Given the description of an element on the screen output the (x, y) to click on. 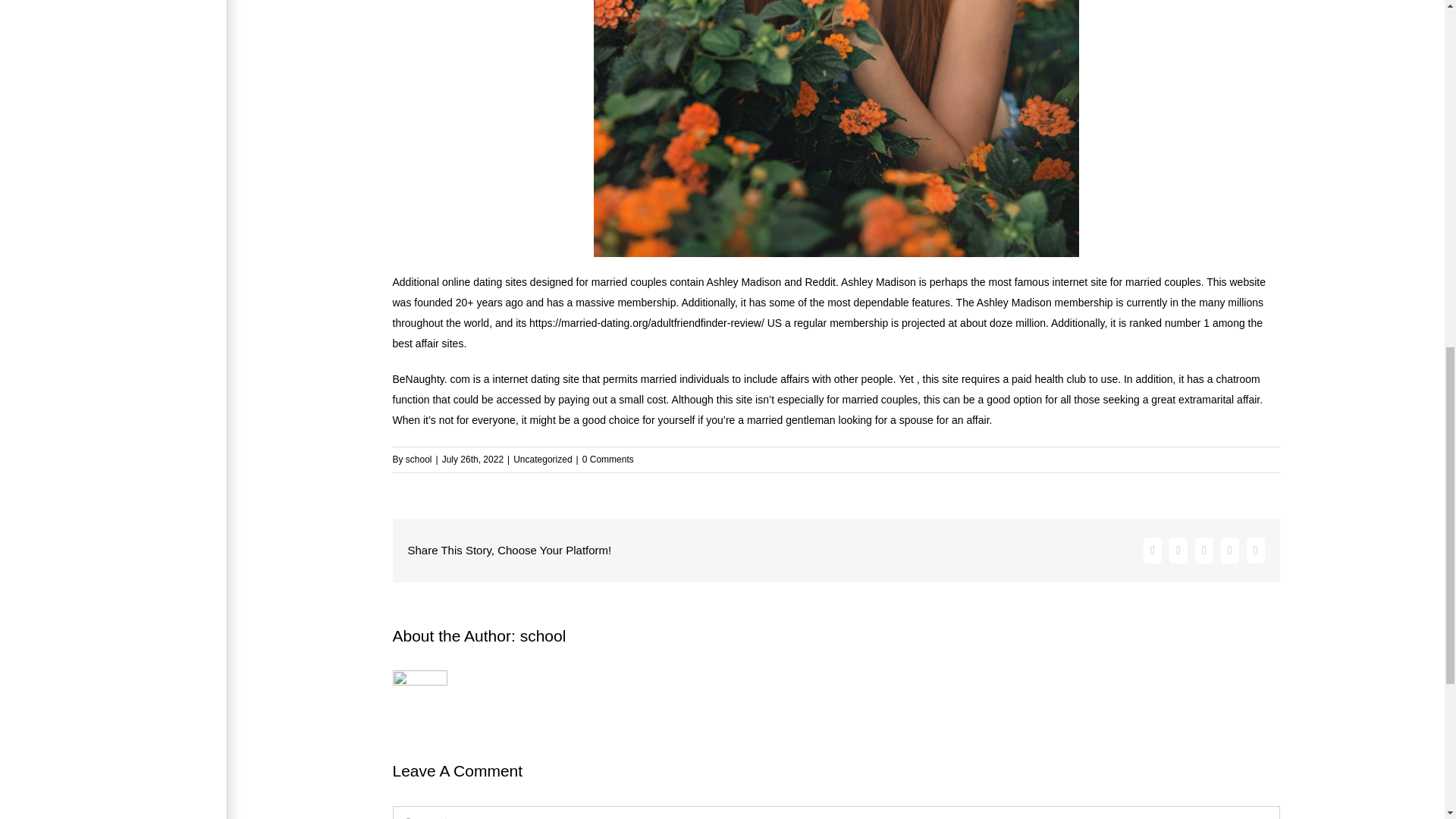
Uncategorized (542, 458)
Posts by school (419, 458)
Posts by school (542, 635)
school (419, 458)
0 Comments (607, 458)
school (542, 635)
